Given the description of an element on the screen output the (x, y) to click on. 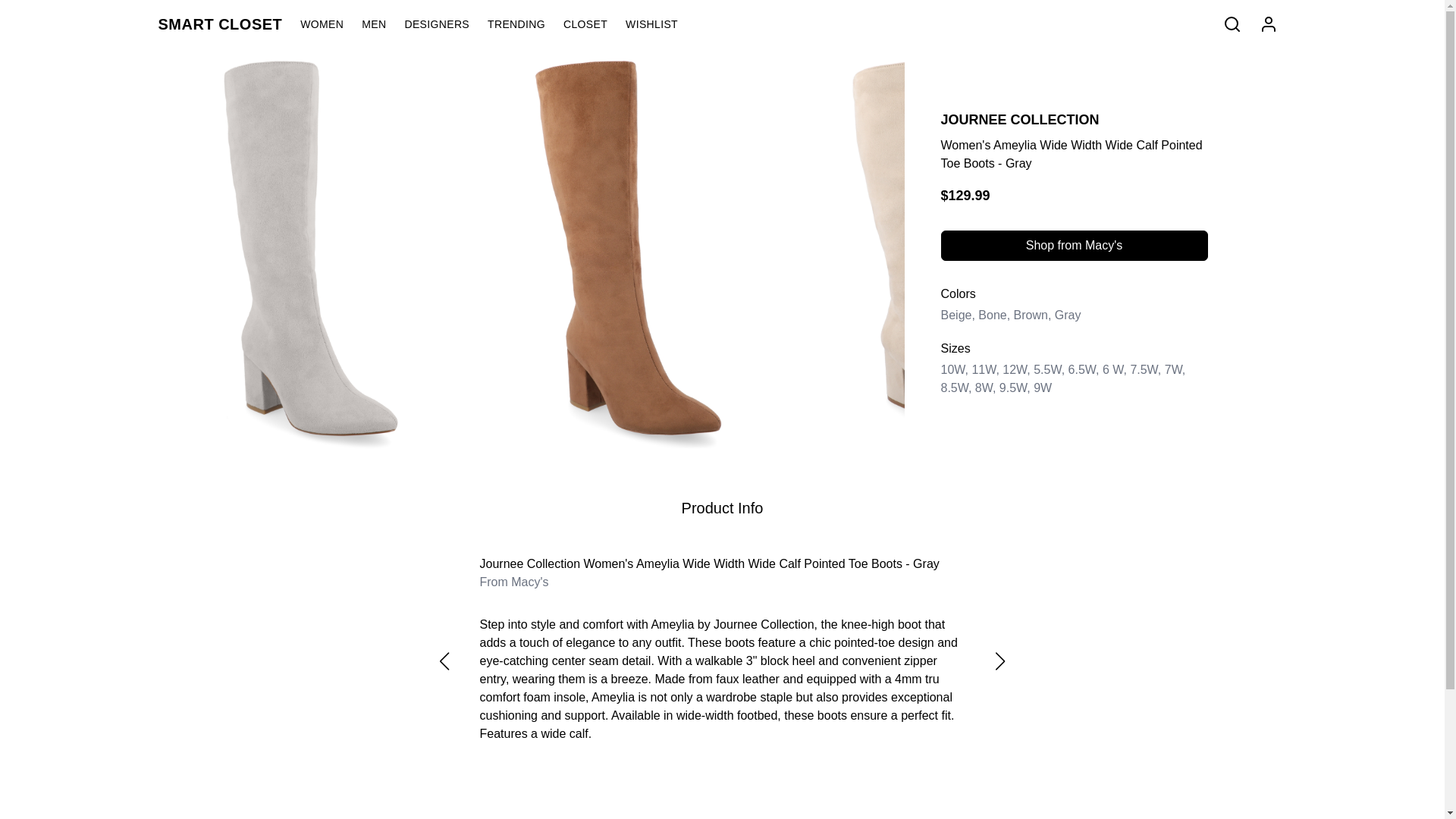
Shop from Macy's (1073, 245)
WOMEN (330, 23)
WISHLIST (660, 23)
JOURNEE COLLECTION (1019, 119)
MEN (382, 23)
TRENDING (525, 23)
CLOSET (594, 23)
SMART CLOSET (228, 24)
Shop from Macy's (1073, 245)
DESIGNERS (445, 23)
